Given the description of an element on the screen output the (x, y) to click on. 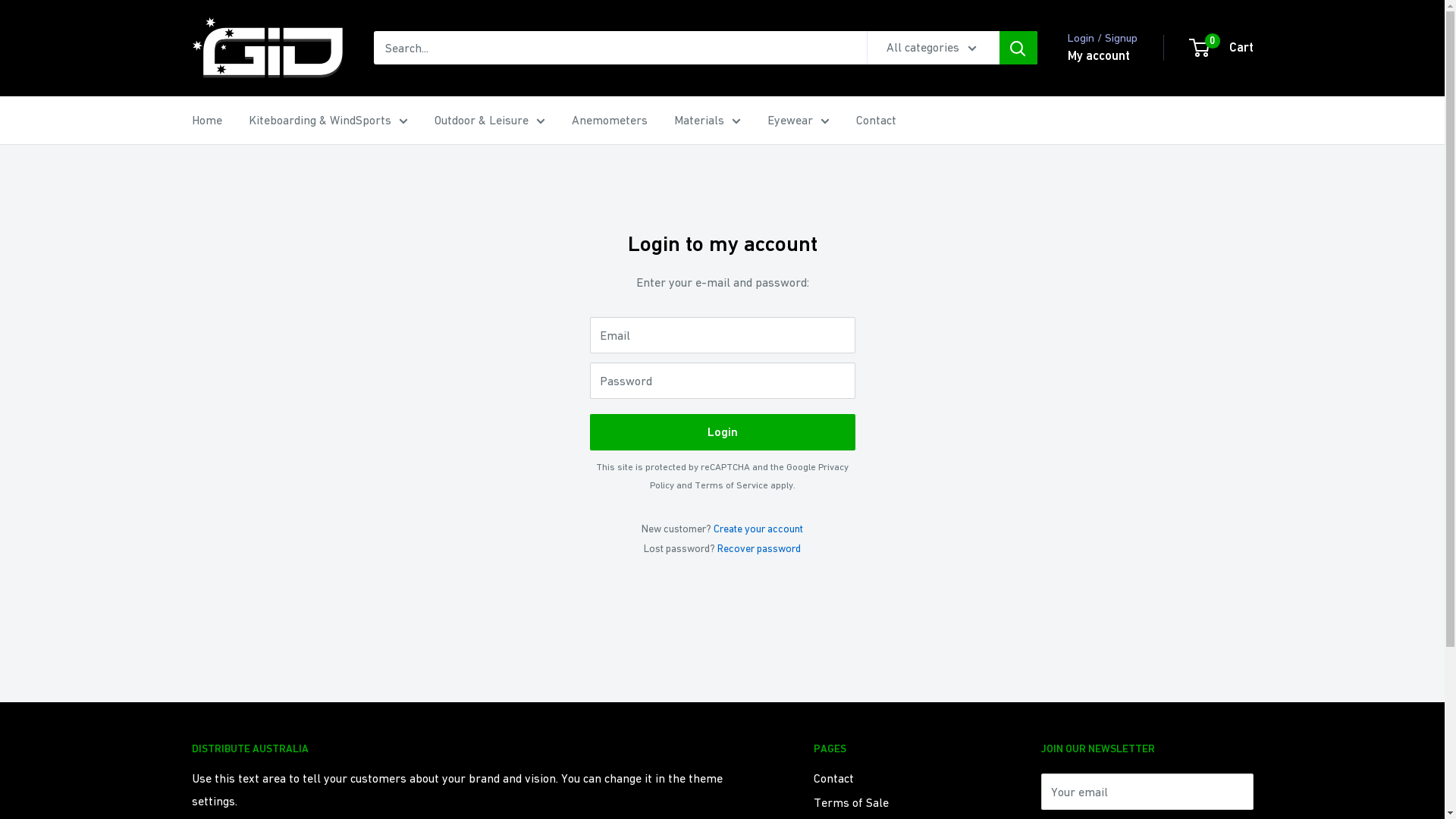
Outdoor & Leisure Element type: text (488, 120)
GiD Element type: text (266, 48)
Contact Element type: text (899, 777)
Home Element type: text (206, 120)
Recover password Element type: text (758, 548)
AF Element type: text (190, 703)
Eyewear Element type: text (798, 120)
Login Element type: text (722, 432)
Terms of Service Element type: text (731, 484)
AD Element type: text (190, 783)
AO Element type: text (190, 804)
Materials Element type: text (706, 120)
Kiteboarding & WindSports Element type: text (327, 120)
AL Element type: text (190, 743)
My account Element type: text (1098, 55)
PAGES Element type: text (899, 749)
0
Cart Element type: text (1221, 47)
Create your account Element type: text (758, 528)
AX Element type: text (190, 723)
DISTRIBUTE AUSTRALIA Element type: text (475, 749)
Privacy Policy Element type: text (748, 475)
DZ Element type: text (190, 764)
Contact Element type: text (875, 120)
Terms of Sale Element type: text (899, 802)
Anemometers Element type: text (609, 120)
